Given the description of an element on the screen output the (x, y) to click on. 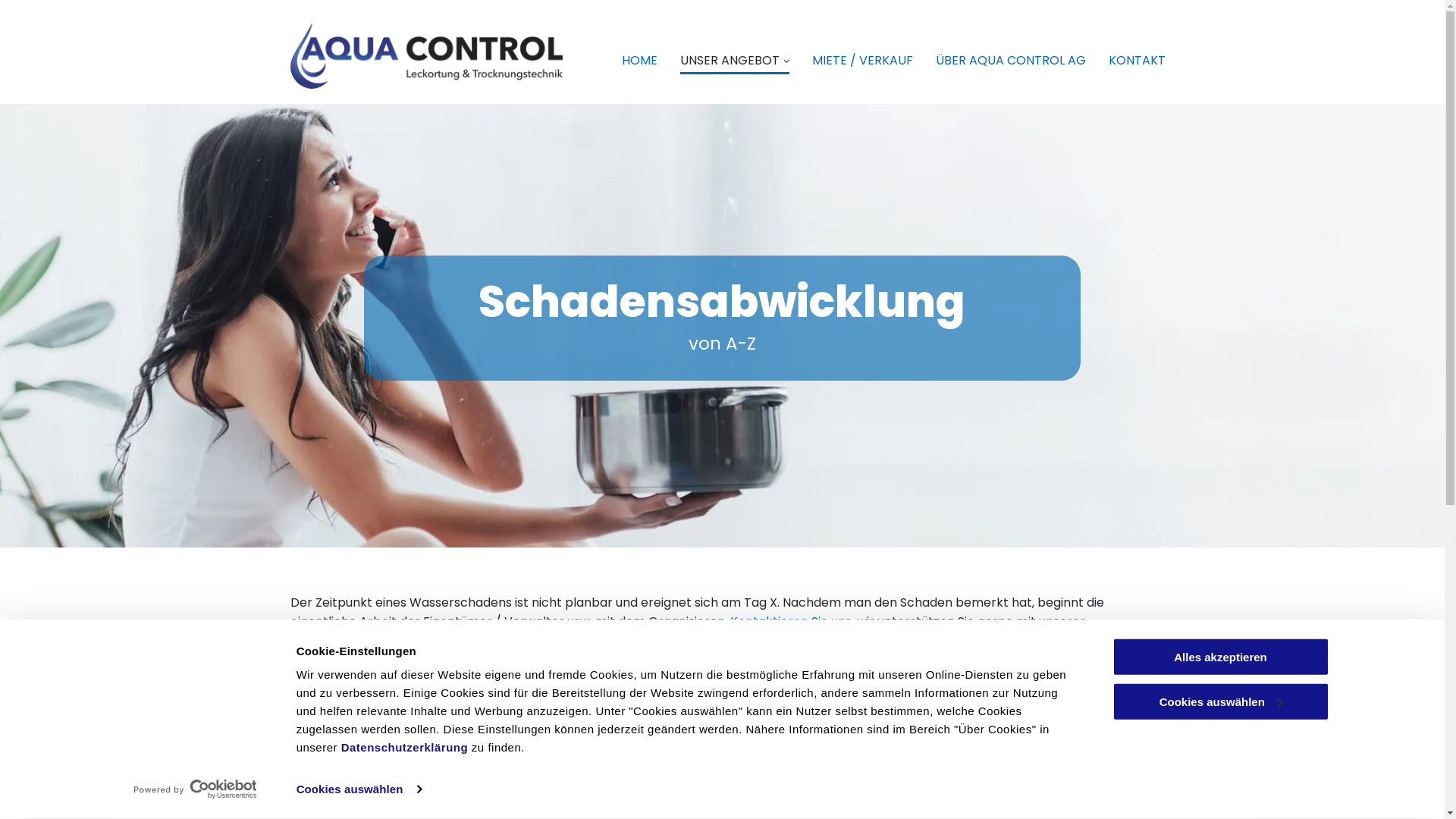
MIETE / VERKAUF Element type: text (862, 57)
UNSER ANGEBOT Element type: text (734, 57)
Alles akzeptieren Element type: text (1219, 656)
KONTAKT Element type: text (1136, 57)
HOME Element type: text (639, 57)
Kontaktieren Sie uns Element type: text (789, 621)
Wasserschadensanierung Element type: text (571, 640)
